Given the description of an element on the screen output the (x, y) to click on. 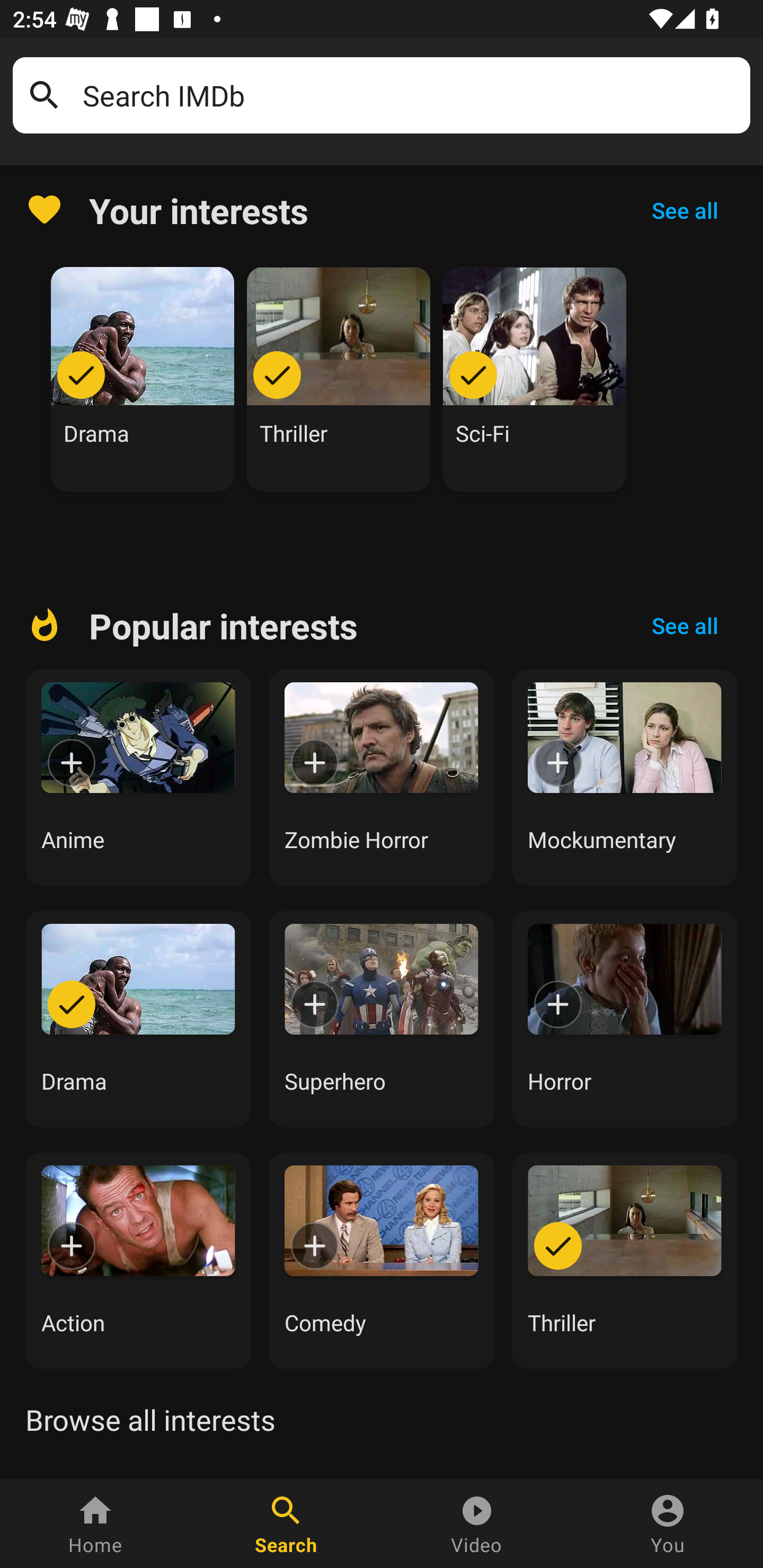
Search IMDb (410, 95)
See all (684, 209)
Drama (142, 379)
Thriller (338, 379)
Sci-Fi (534, 379)
See all (684, 625)
Anime (138, 777)
Zombie Horror (381, 777)
Mockumentary (624, 777)
Drama (138, 1018)
Superhero (381, 1018)
Horror (624, 1018)
Action (138, 1260)
Comedy (381, 1260)
Thriller (624, 1260)
Browse all interests (150, 1419)
Home (95, 1523)
Video (476, 1523)
You (667, 1523)
